Given the description of an element on the screen output the (x, y) to click on. 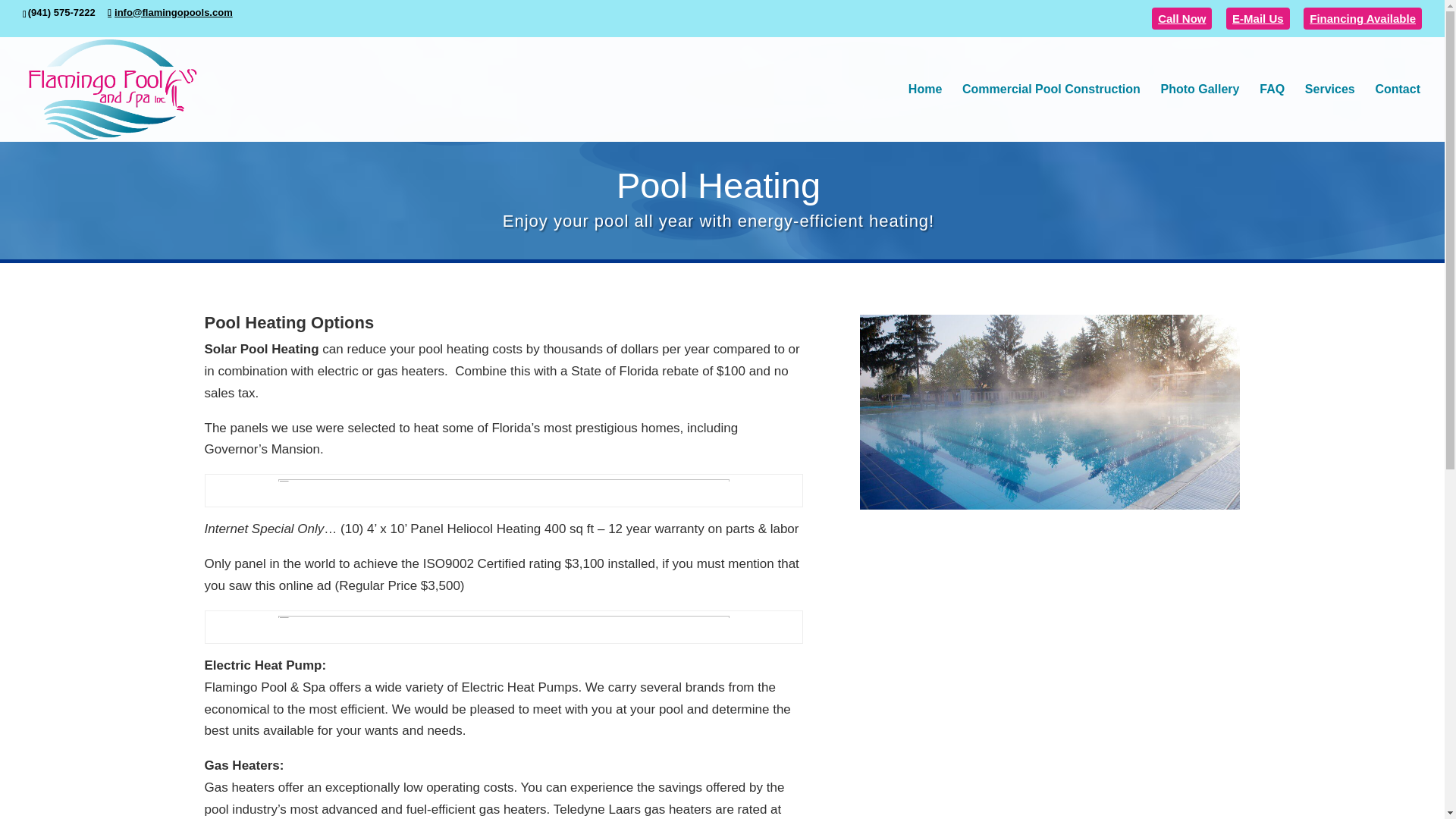
Commercial Pool Construction (1051, 112)
Call Now (1181, 18)
E-Mail Us (1257, 18)
Photo Gallery (1199, 112)
Financing Available (1362, 18)
